Given the description of an element on the screen output the (x, y) to click on. 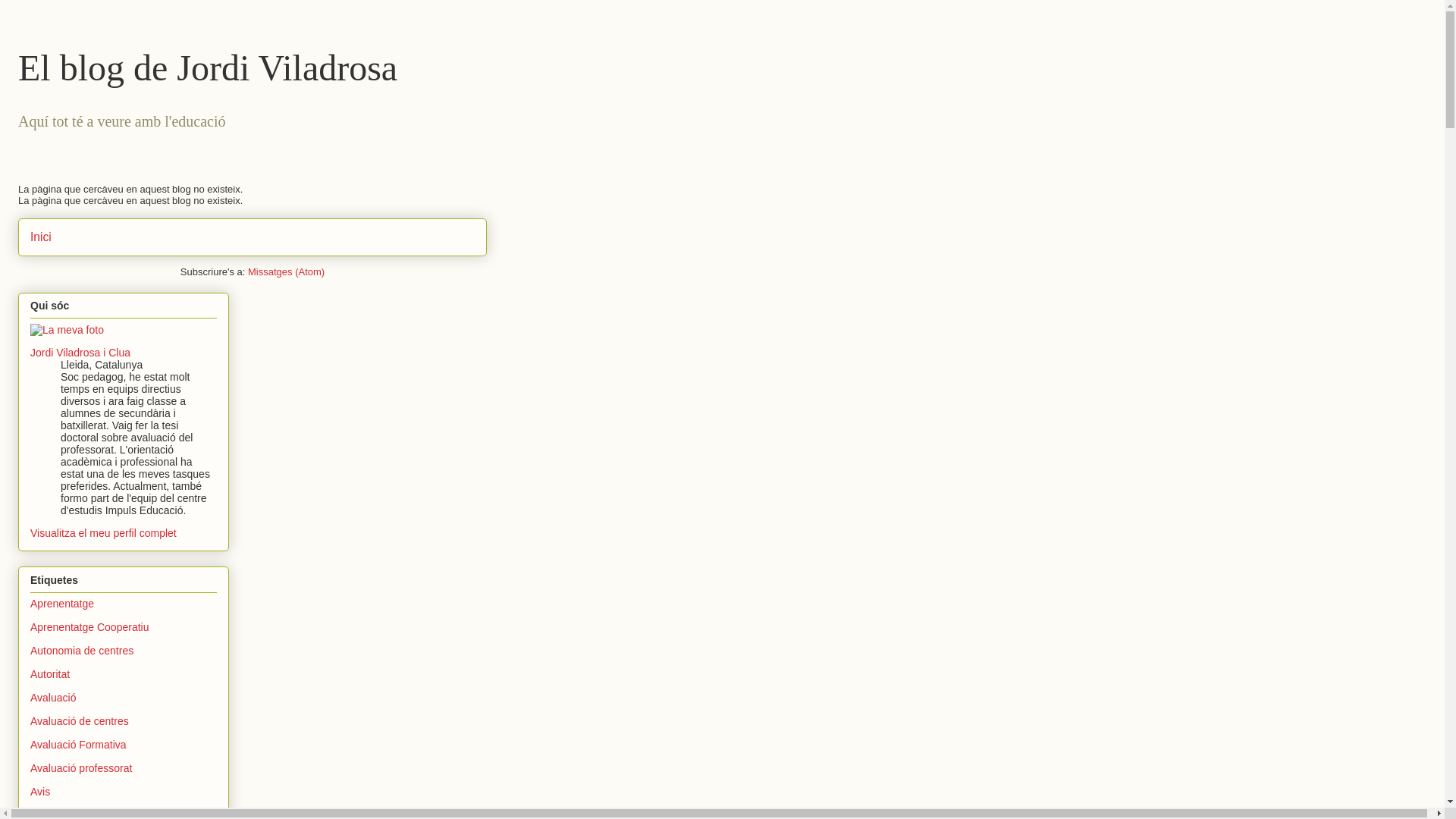
El blog de Jordi Viladrosa Element type: text (207, 67)
Inici Element type: text (40, 236)
Aprenentatge Element type: text (62, 603)
Autoritat Element type: text (49, 674)
Missatges (Atom) Element type: text (285, 271)
Autonomia de centres Element type: text (81, 650)
Visualitza el meu perfil complet Element type: text (103, 533)
Avis Element type: text (40, 791)
Aprenentatge Cooperatiu Element type: text (89, 627)
Jordi Viladrosa i Clua Element type: text (80, 352)
